Given the description of an element on the screen output the (x, y) to click on. 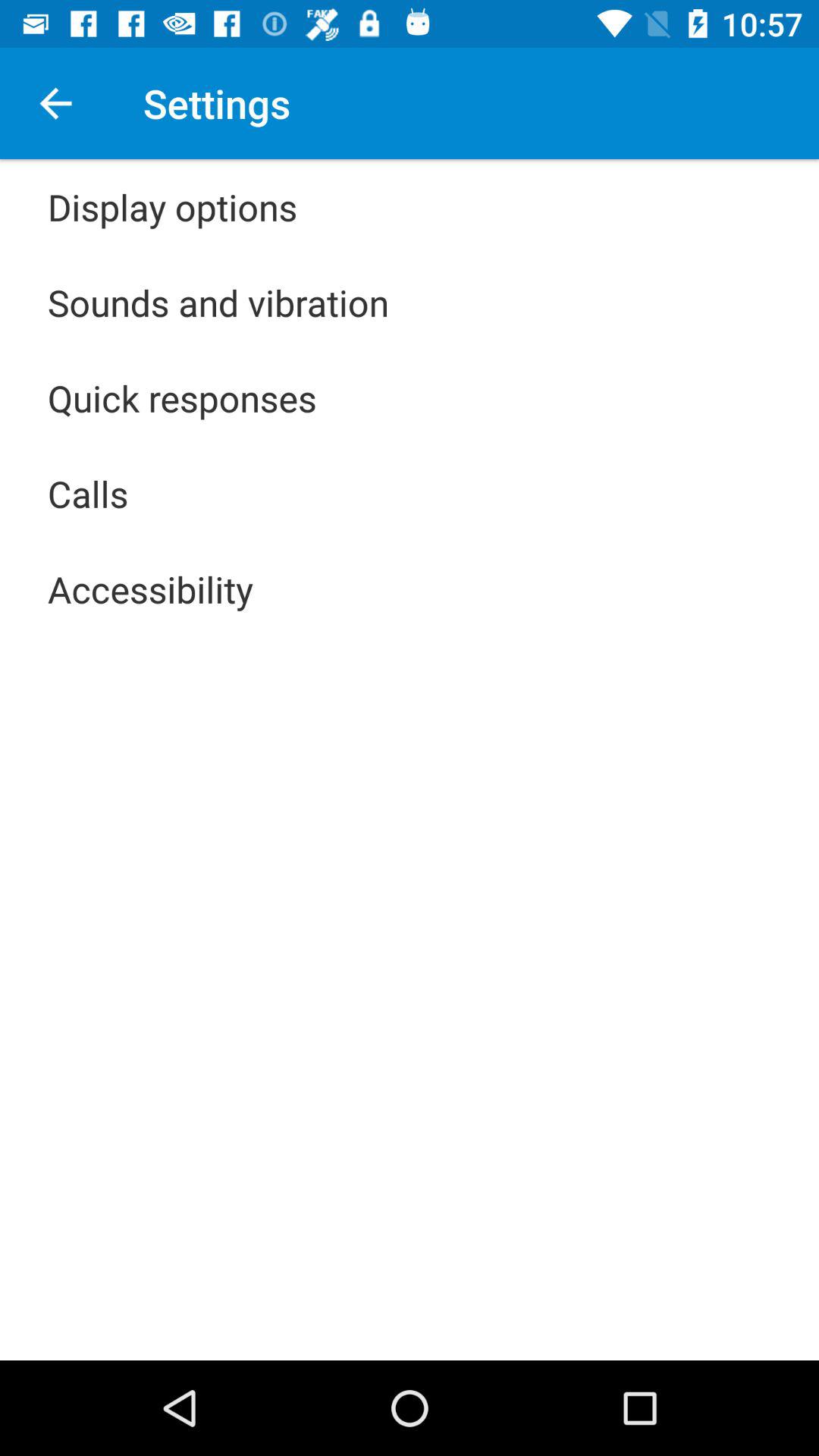
swipe until the quick responses (181, 397)
